Given the description of an element on the screen output the (x, y) to click on. 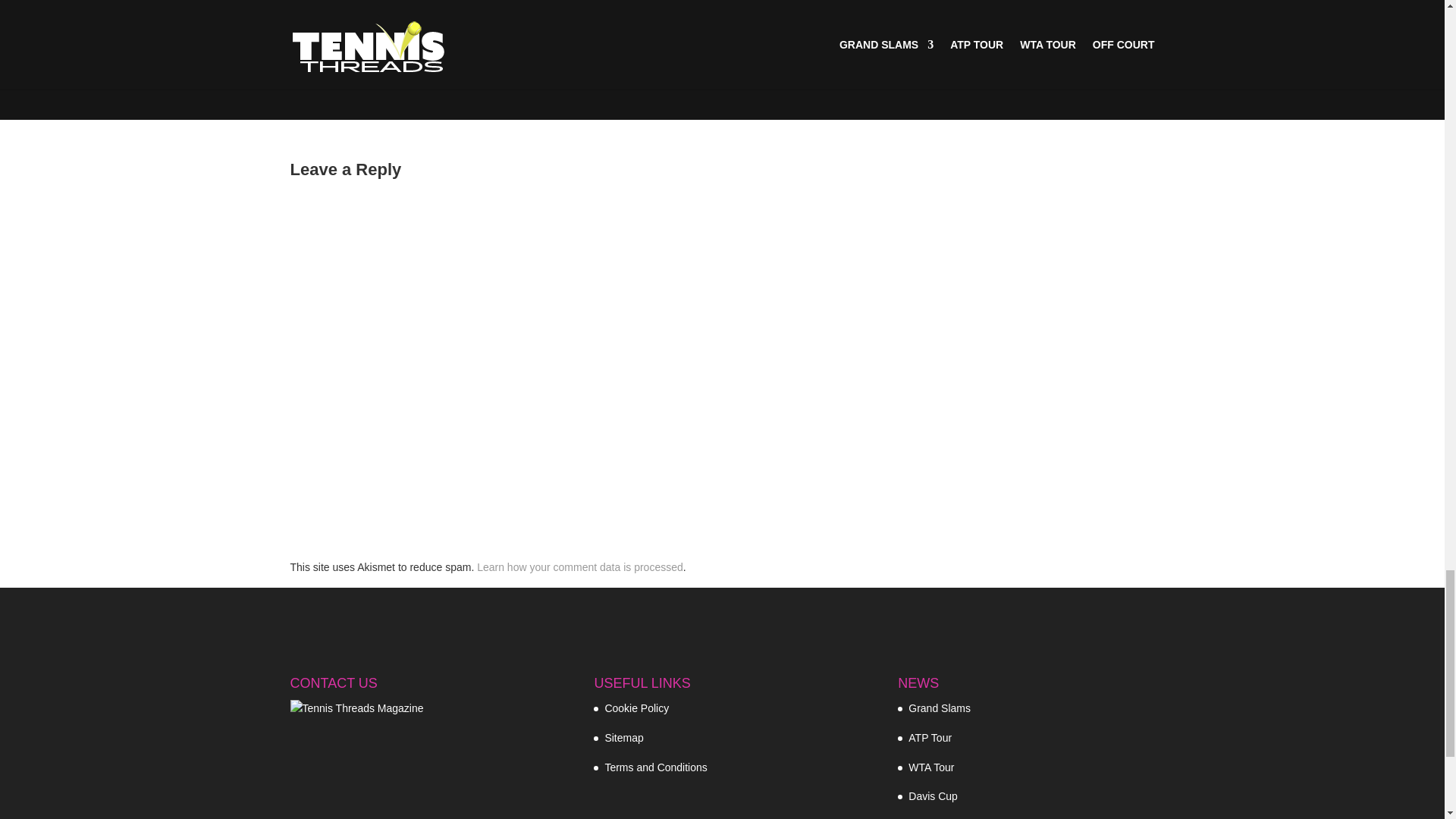
Tennis Threads Magazine (356, 709)
